Given the description of an element on the screen output the (x, y) to click on. 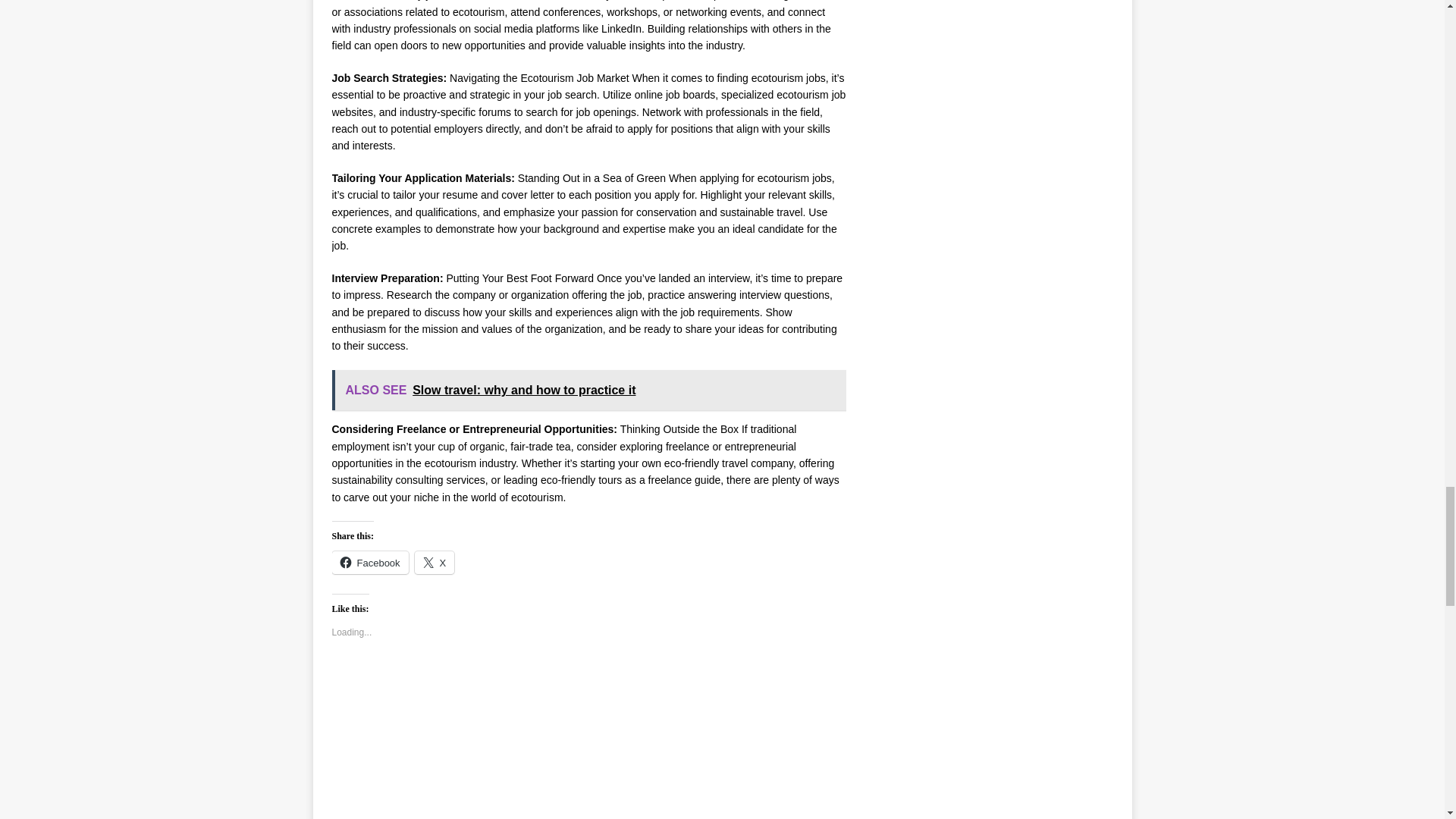
Click to share on Facebook (370, 562)
Click to share on X (434, 562)
Facebook (370, 562)
ALSO SEE  Slow travel: why and how to practice it (589, 390)
X (434, 562)
